Given the description of an element on the screen output the (x, y) to click on. 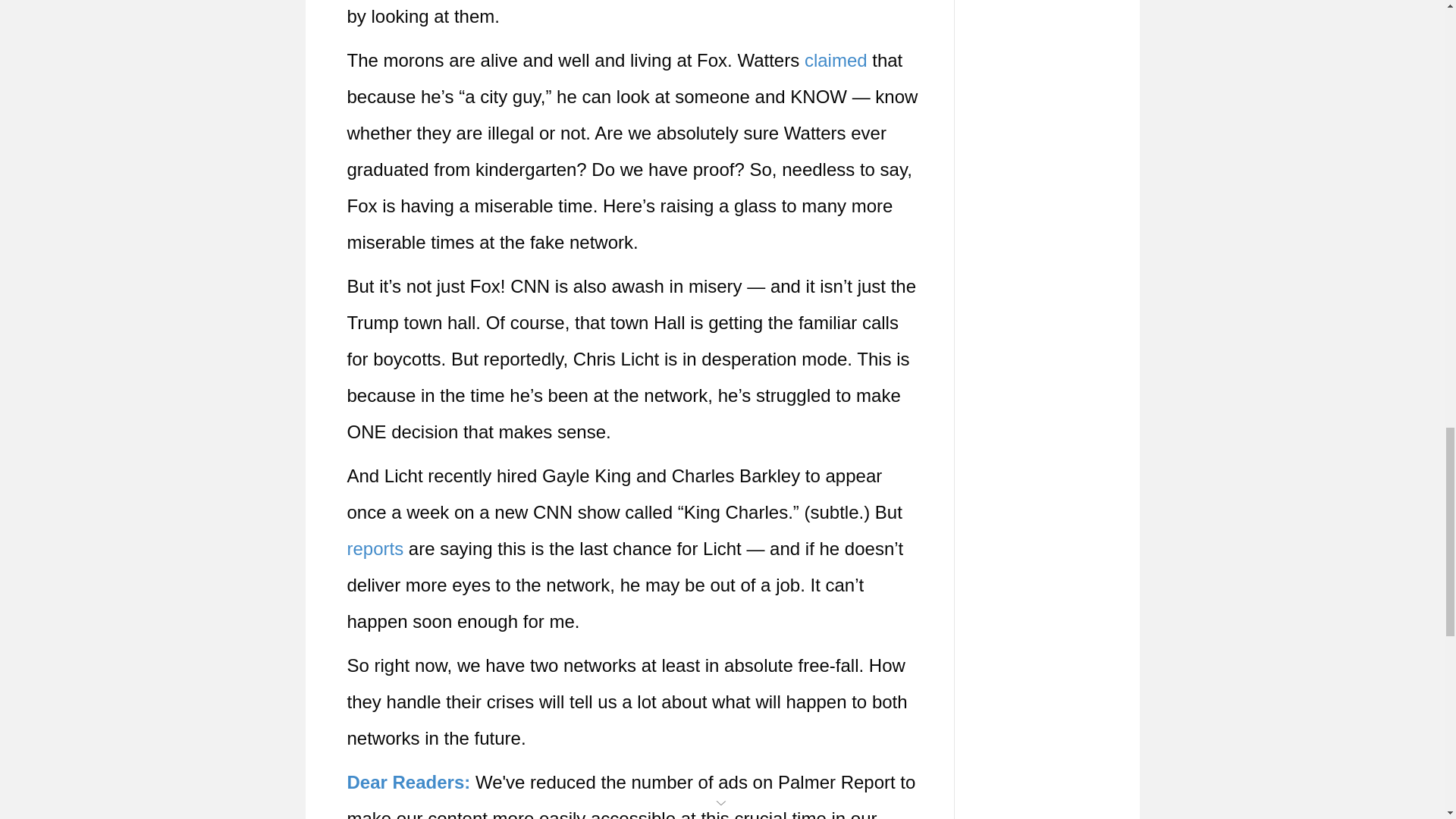
Dear Readers: (408, 782)
reports (375, 548)
claimed (836, 59)
